Given the description of an element on the screen output the (x, y) to click on. 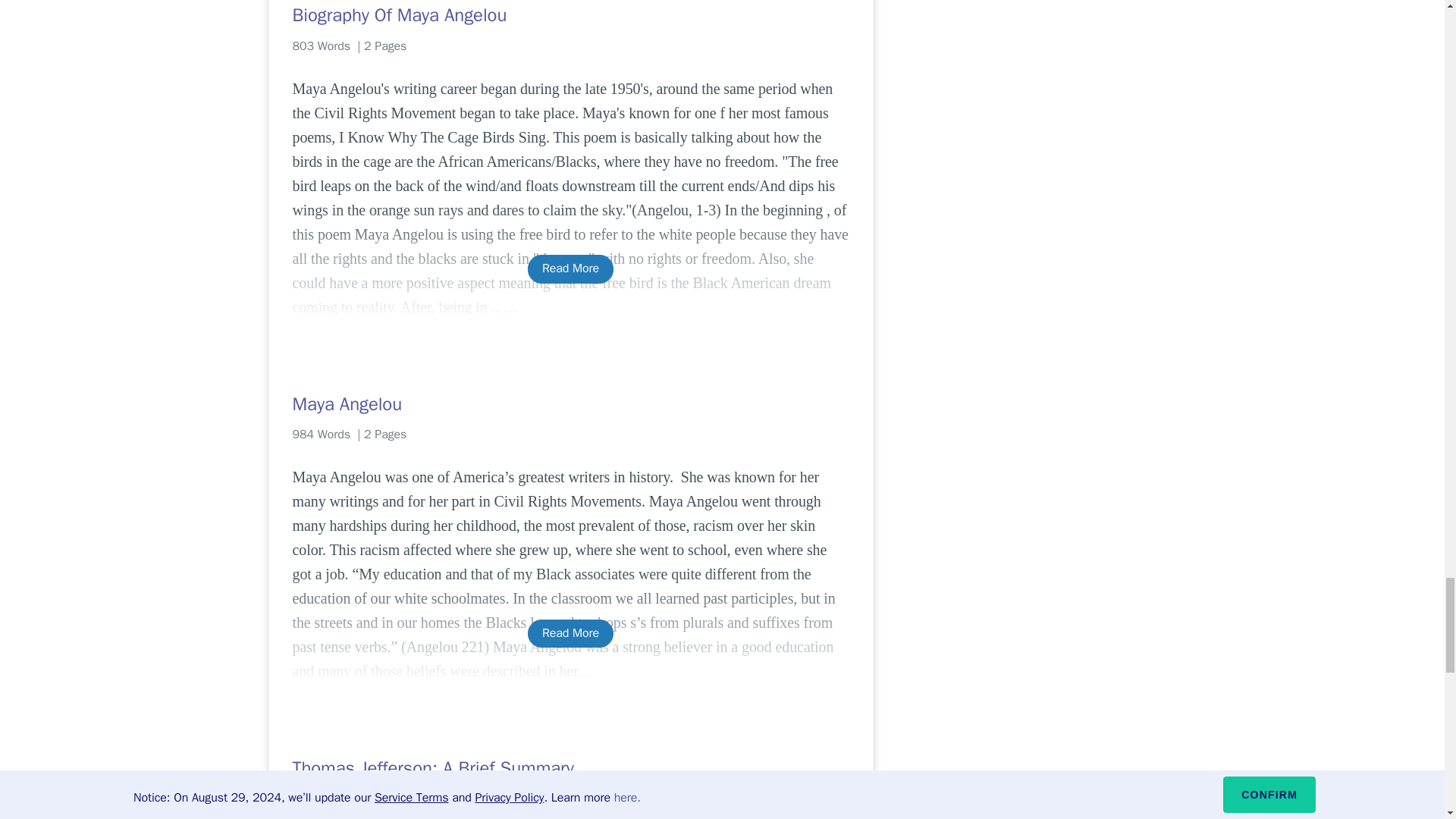
Read More (569, 633)
Biography Of Maya Angelou (570, 15)
Read More (569, 268)
Maya Angelou (570, 404)
